Given the description of an element on the screen output the (x, y) to click on. 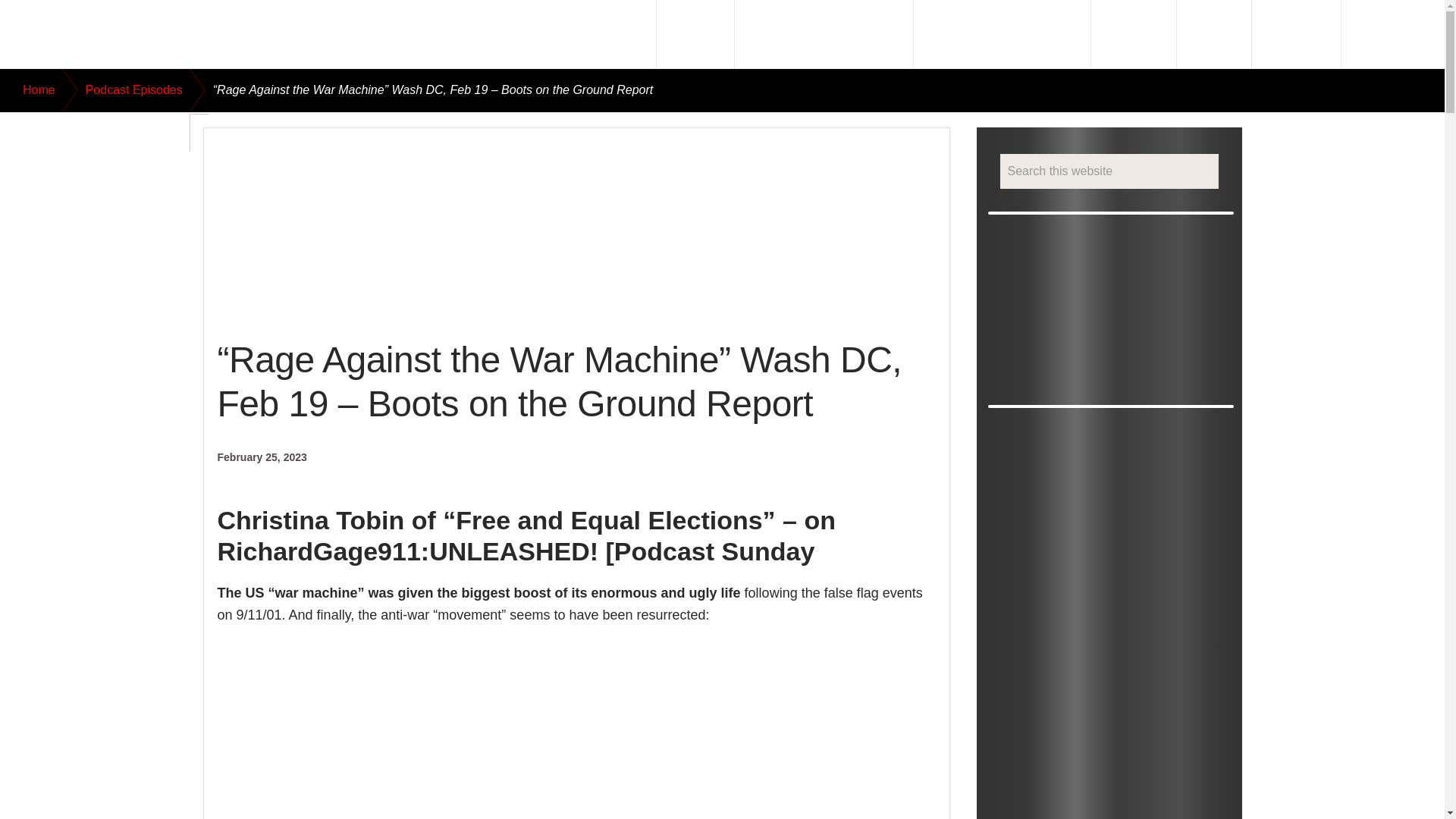
Store (1213, 33)
About (694, 33)
Donate! (1295, 33)
Actions (1133, 33)
Home (617, 33)
